Given the description of an element on the screen output the (x, y) to click on. 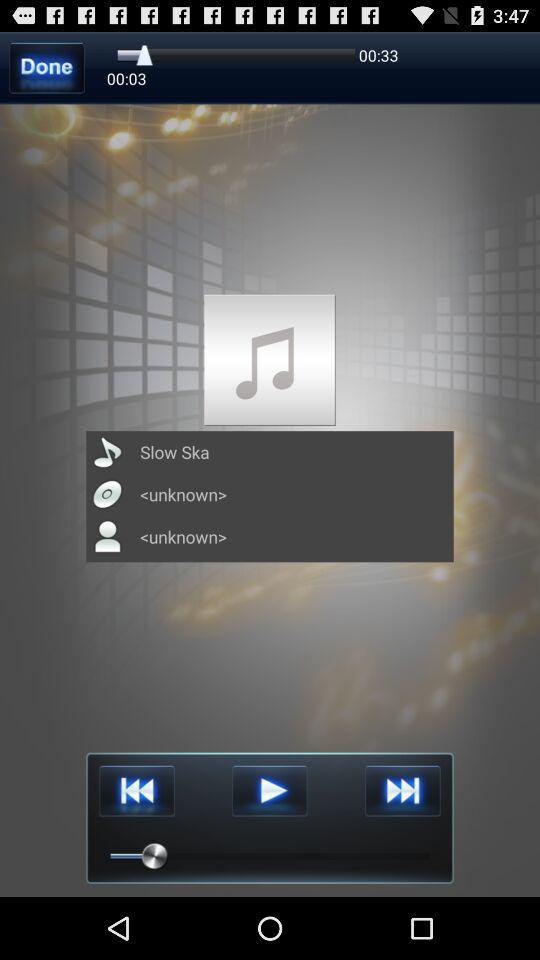
play next (402, 790)
